Given the description of an element on the screen output the (x, y) to click on. 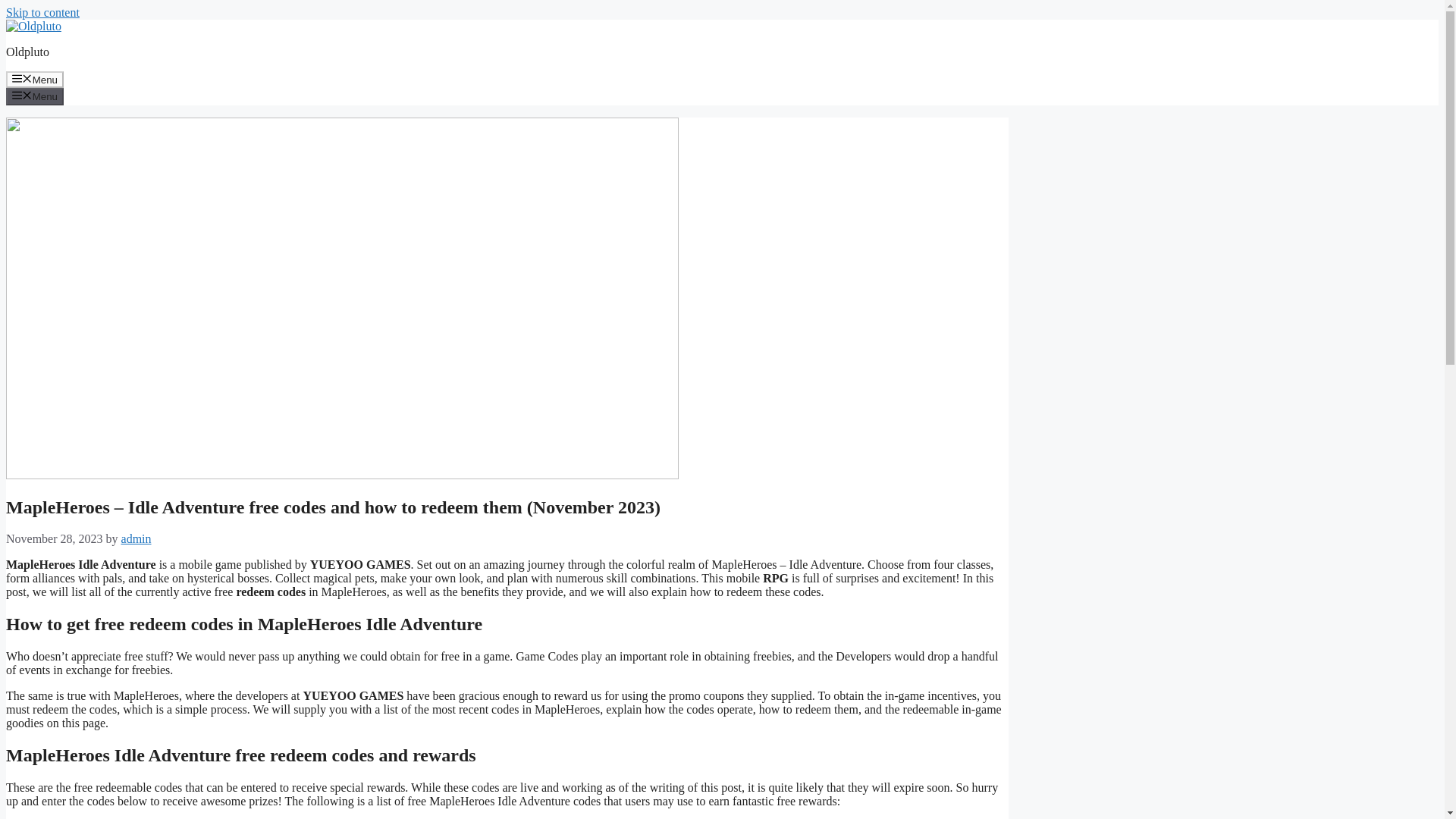
View all posts by admin (135, 538)
Skip to content (42, 11)
Menu (34, 79)
Oldpluto (27, 51)
Menu (34, 95)
admin (135, 538)
Skip to content (42, 11)
